Given the description of an element on the screen output the (x, y) to click on. 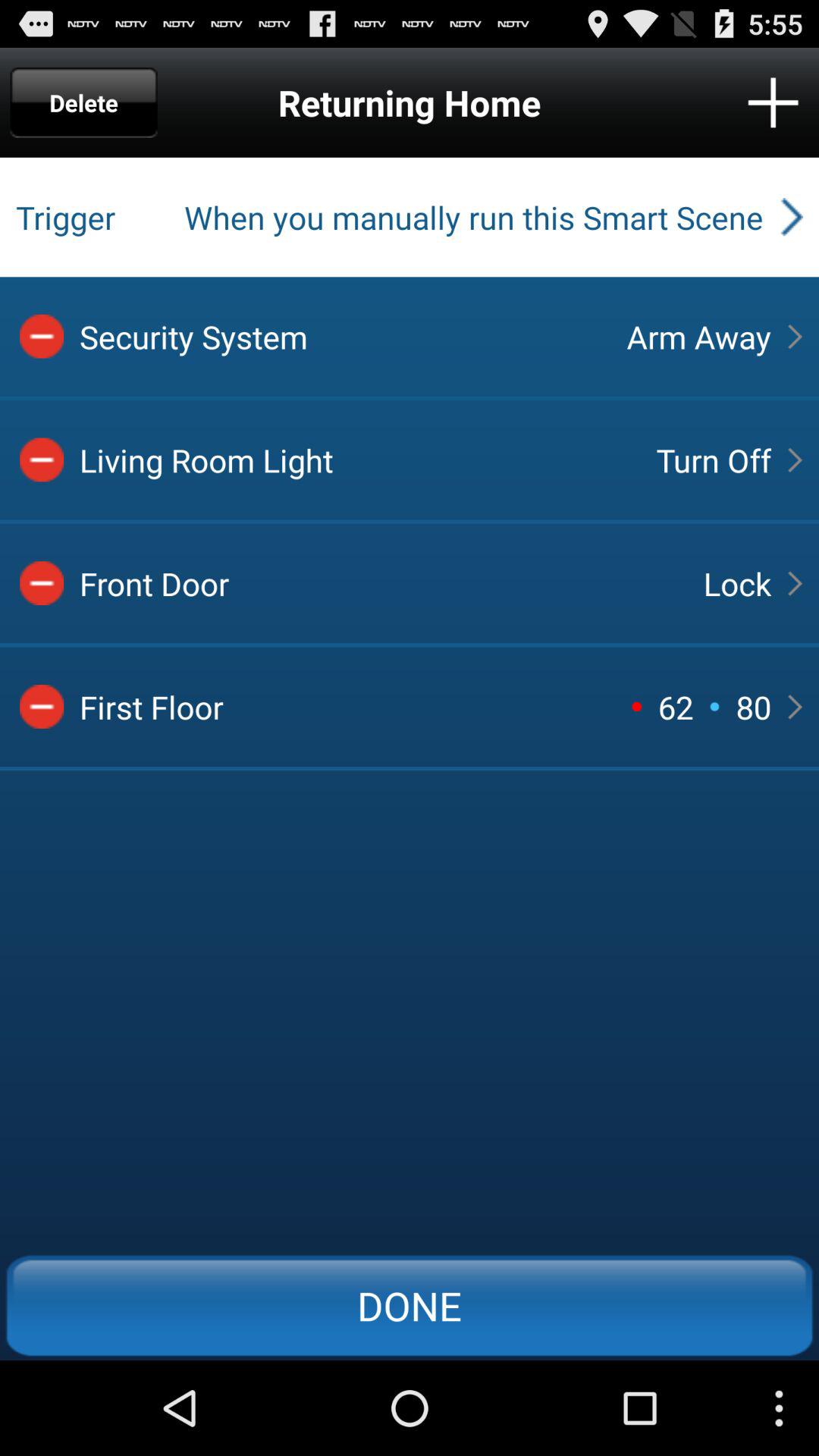
delete option (41, 706)
